Given the description of an element on the screen output the (x, y) to click on. 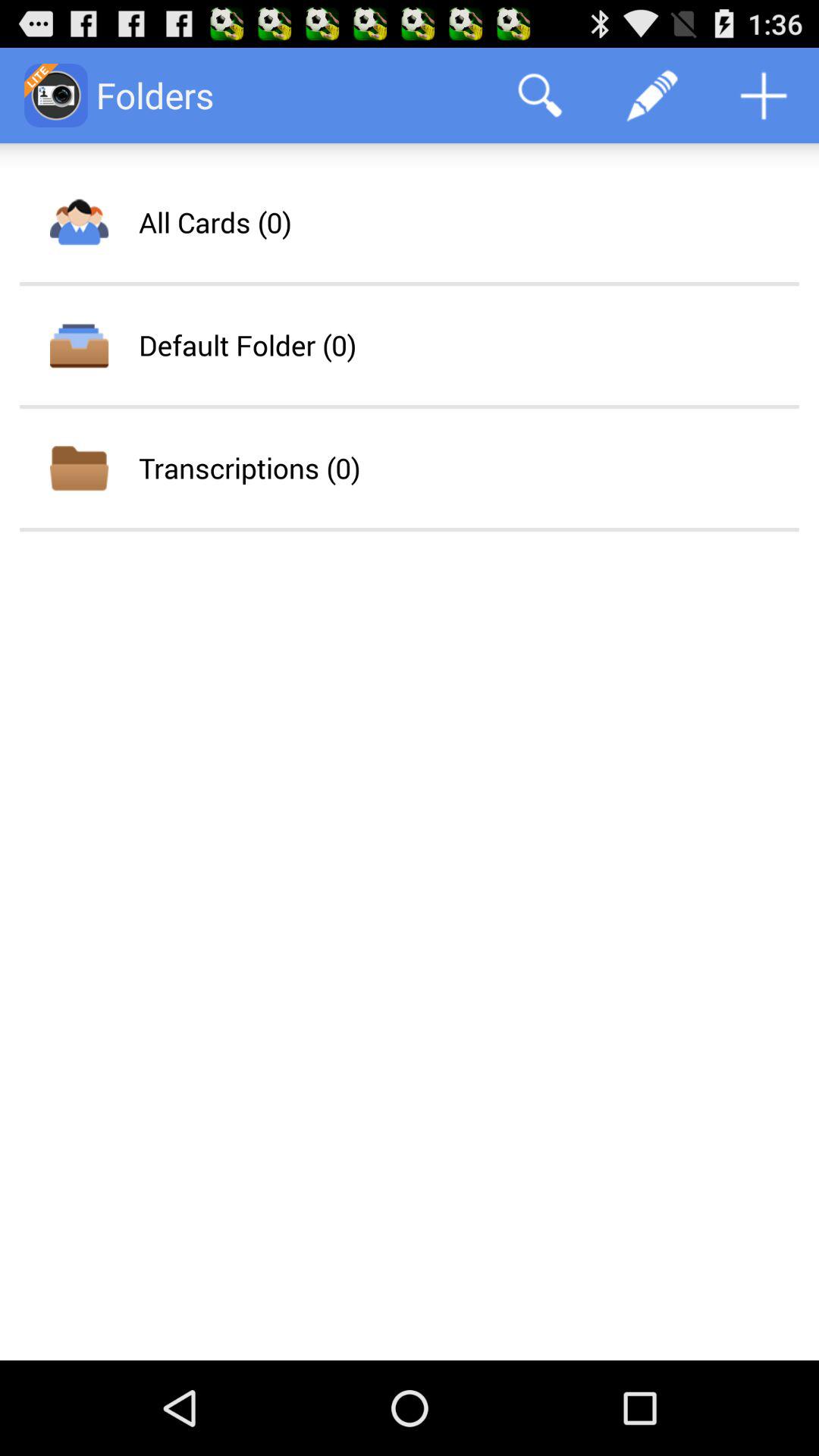
launch the item above transcriptions (0) app (247, 345)
